Given the description of an element on the screen output the (x, y) to click on. 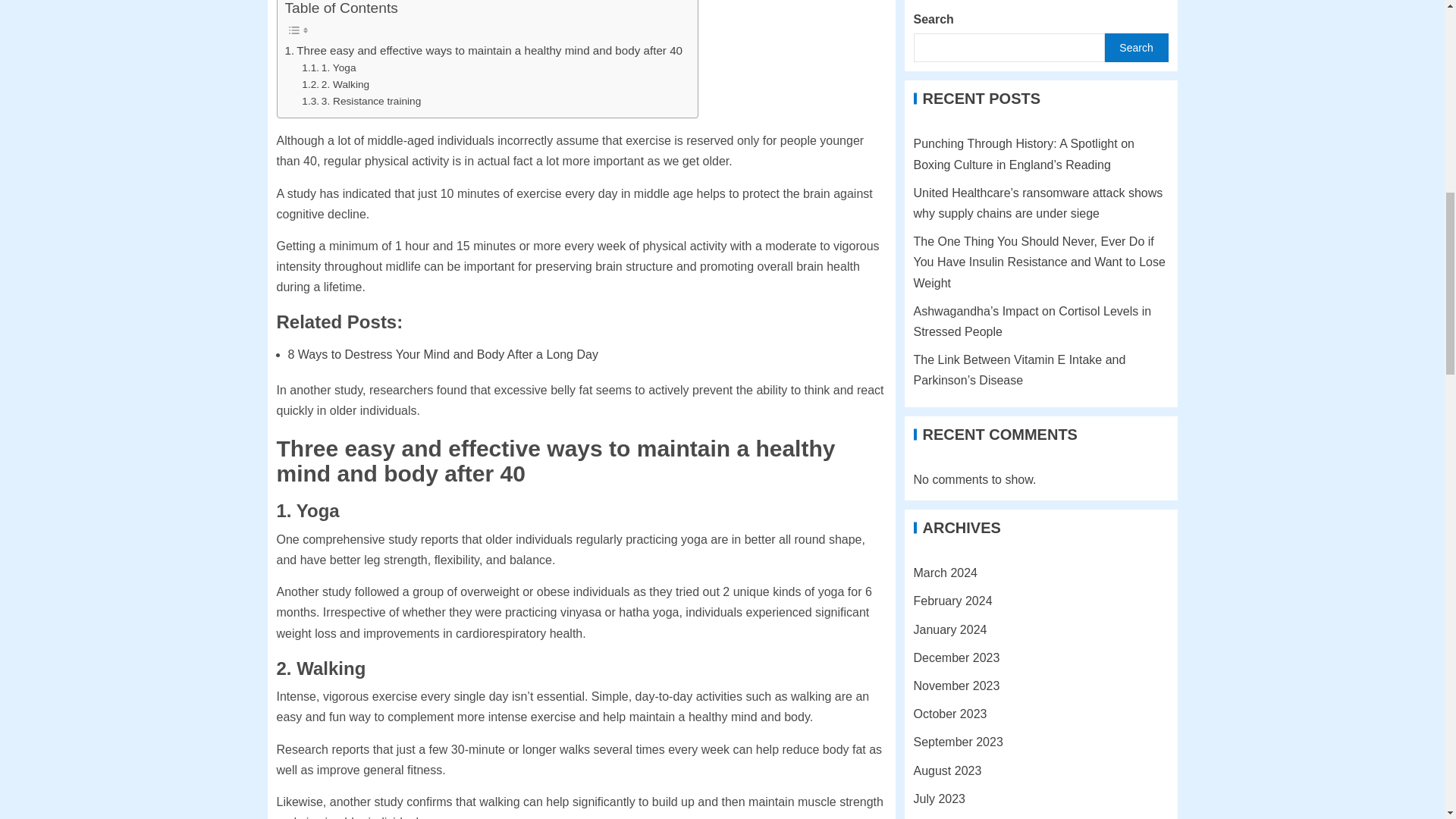
2. Walking (335, 84)
1. Yoga (328, 67)
2. Walking (335, 84)
3. Resistance training (360, 101)
8 Ways to Destress Your Mind and Body After a Long Day (443, 354)
3. Resistance training (360, 101)
1. Yoga (328, 67)
